Given the description of an element on the screen output the (x, y) to click on. 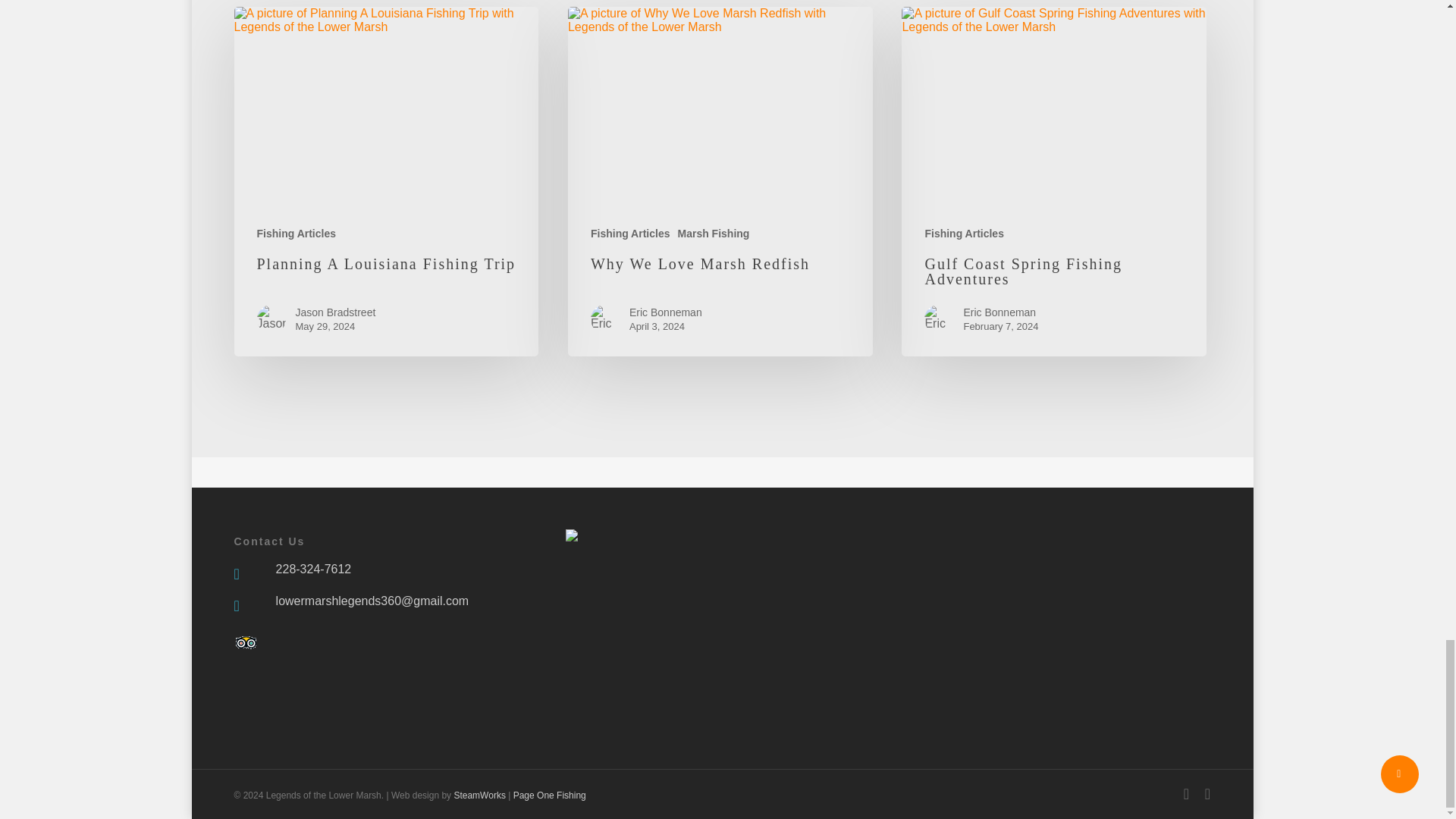
Planning A Louisiana Fishing Trip on May 29, 2024 (385, 108)
Gulf Coast Spring Fishing Adventures on February 7, 2024 (1054, 108)
Why We Love Marsh Redfish on April 3, 2024 (719, 108)
